Given the description of an element on the screen output the (x, y) to click on. 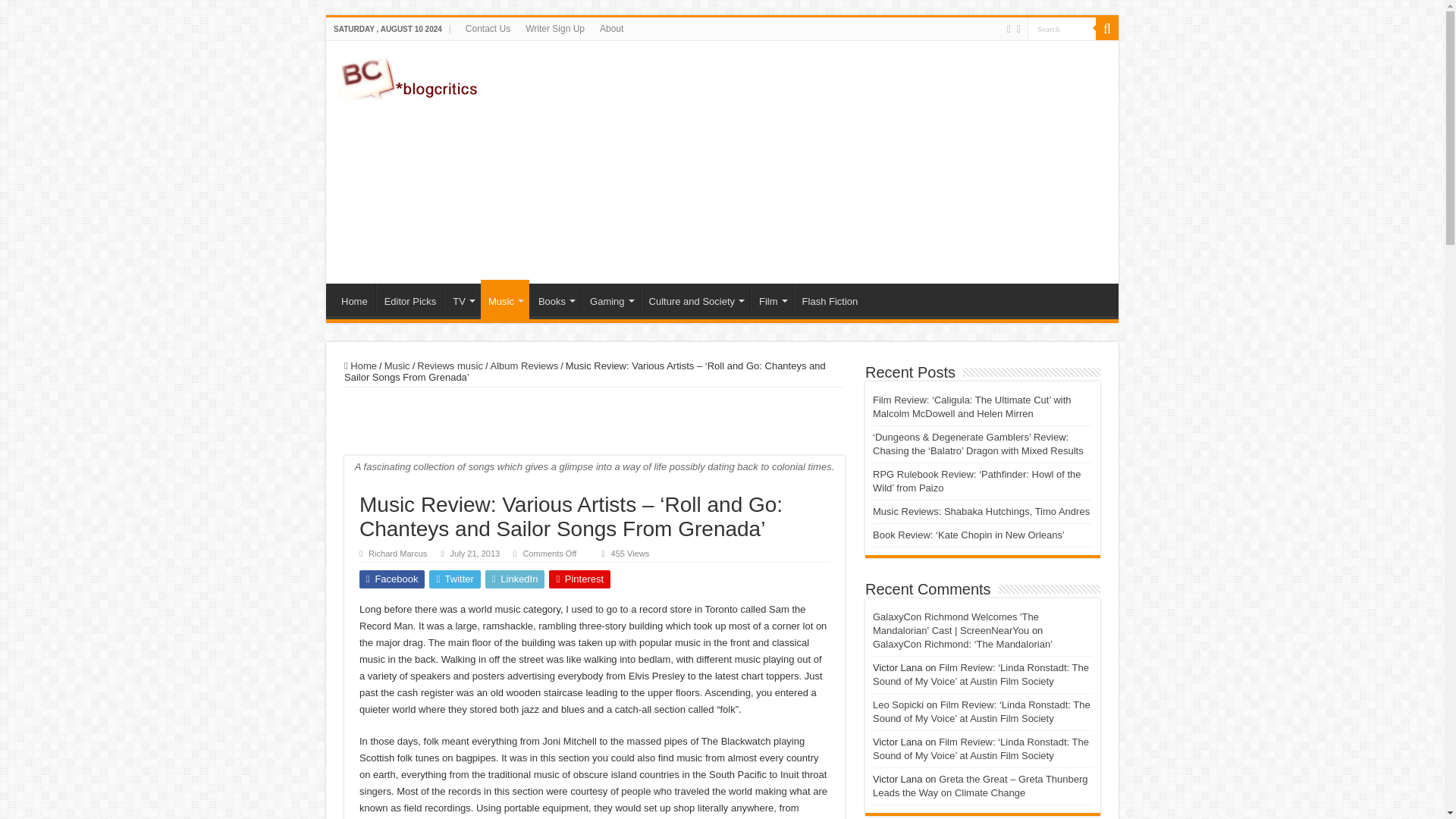
Search (1061, 28)
Search (1061, 28)
Blogcritics (409, 75)
Advertisement (830, 162)
Search (1061, 28)
